Given the description of an element on the screen output the (x, y) to click on. 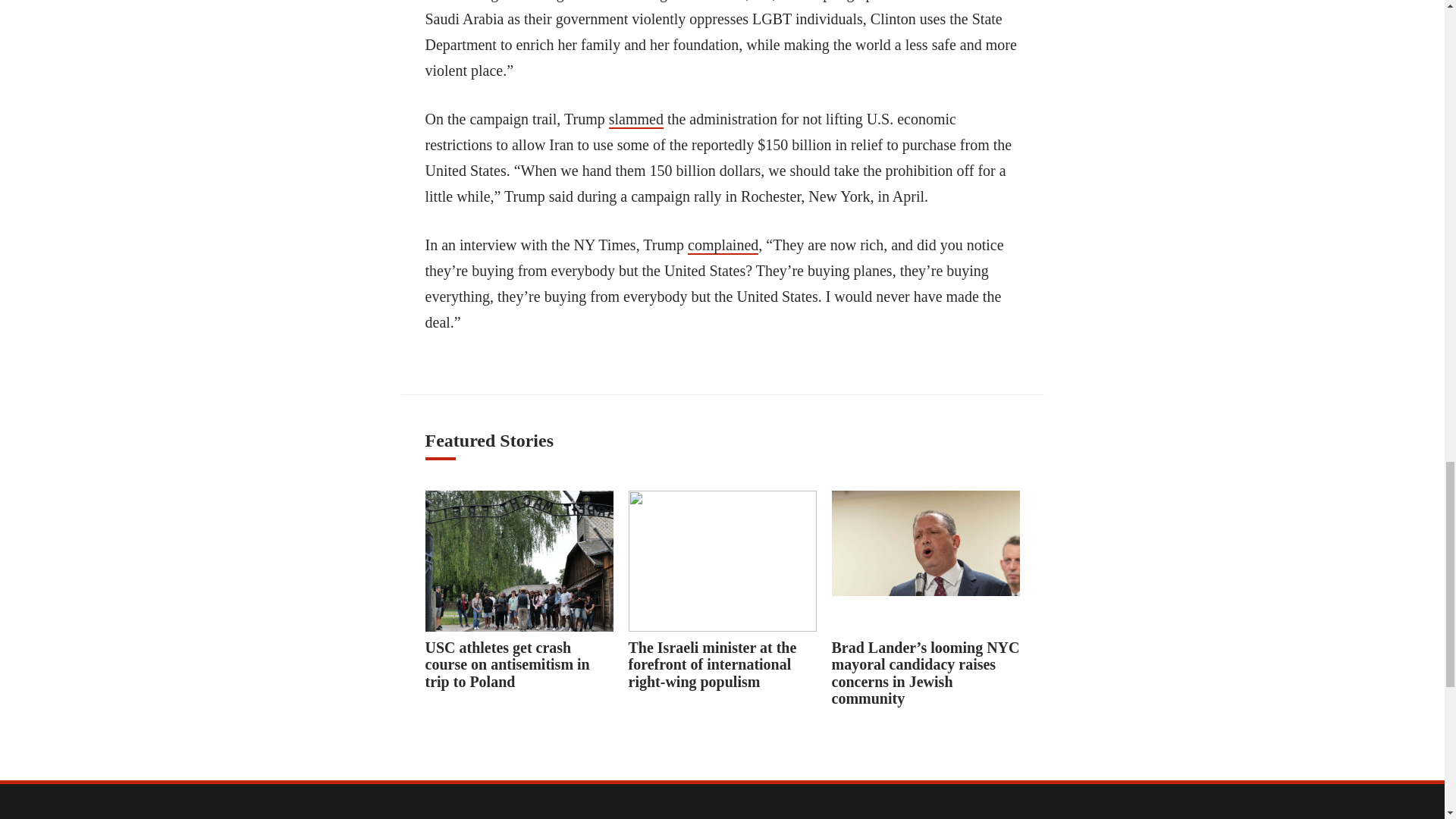
complained (722, 245)
slammed (635, 119)
